Given the description of an element on the screen output the (x, y) to click on. 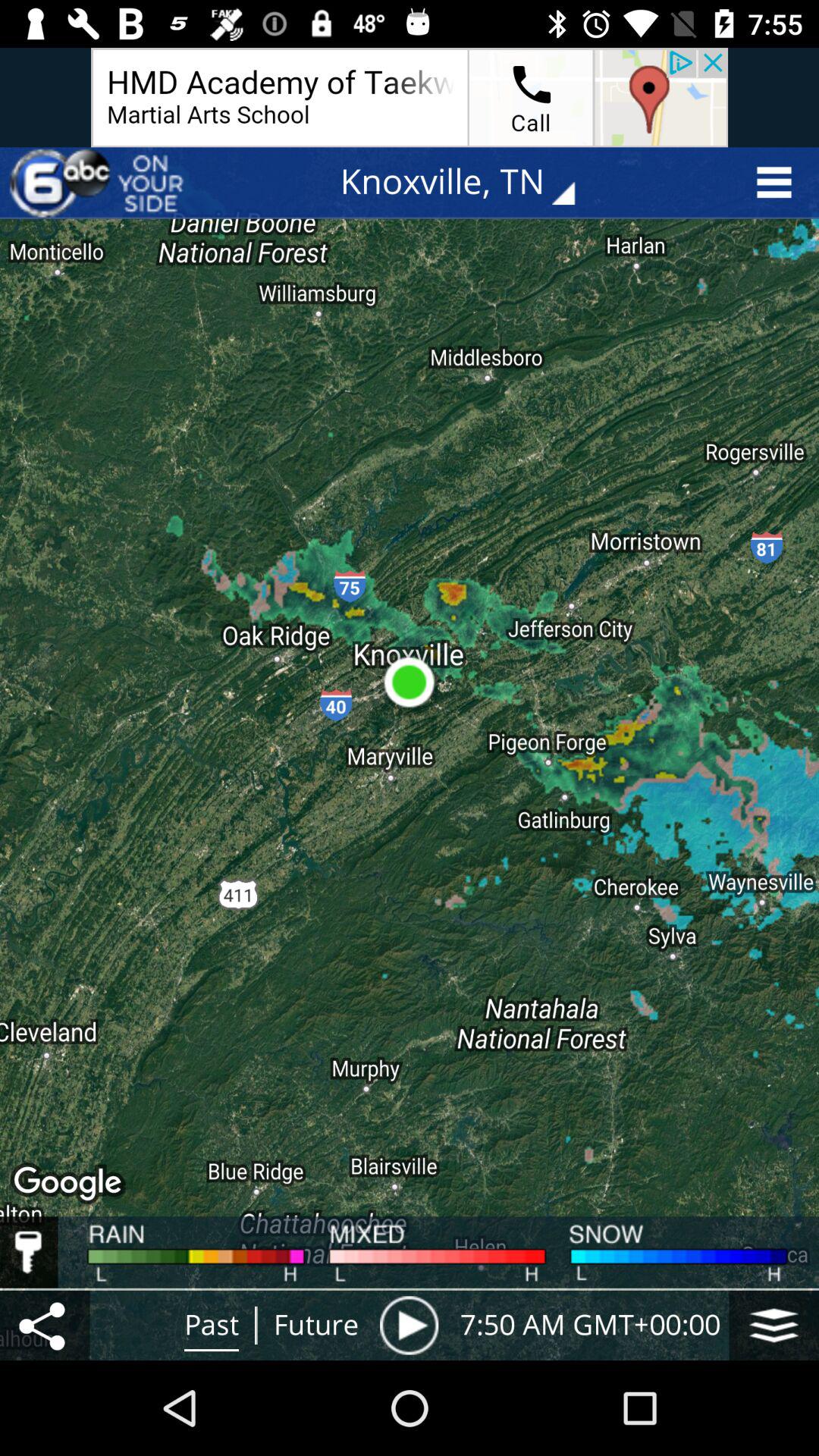
click the item to the left of the knoxville, tn (99, 182)
